Given the description of an element on the screen output the (x, y) to click on. 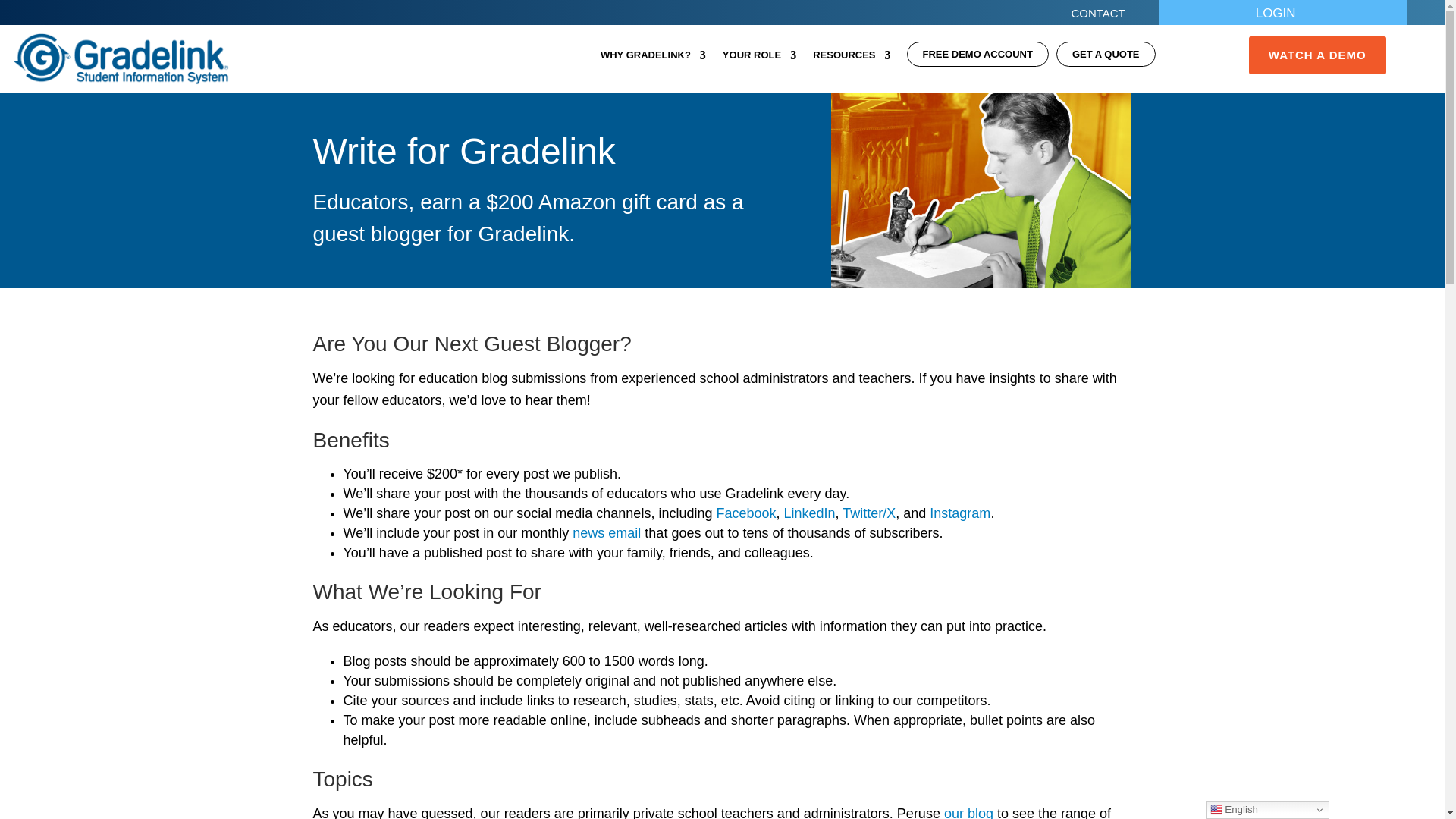
YOUR ROLE (759, 57)
RESOURCES (850, 57)
GuestBlogger2B (981, 187)
GET A QUOTE (1105, 57)
Gradelink Blog (967, 812)
LOGIN (1283, 16)
FREE DEMO ACCOUNT (977, 57)
CONTACT (1105, 16)
Get Gradelink News (606, 532)
WHY GRADELINK? (652, 57)
